Given the description of an element on the screen output the (x, y) to click on. 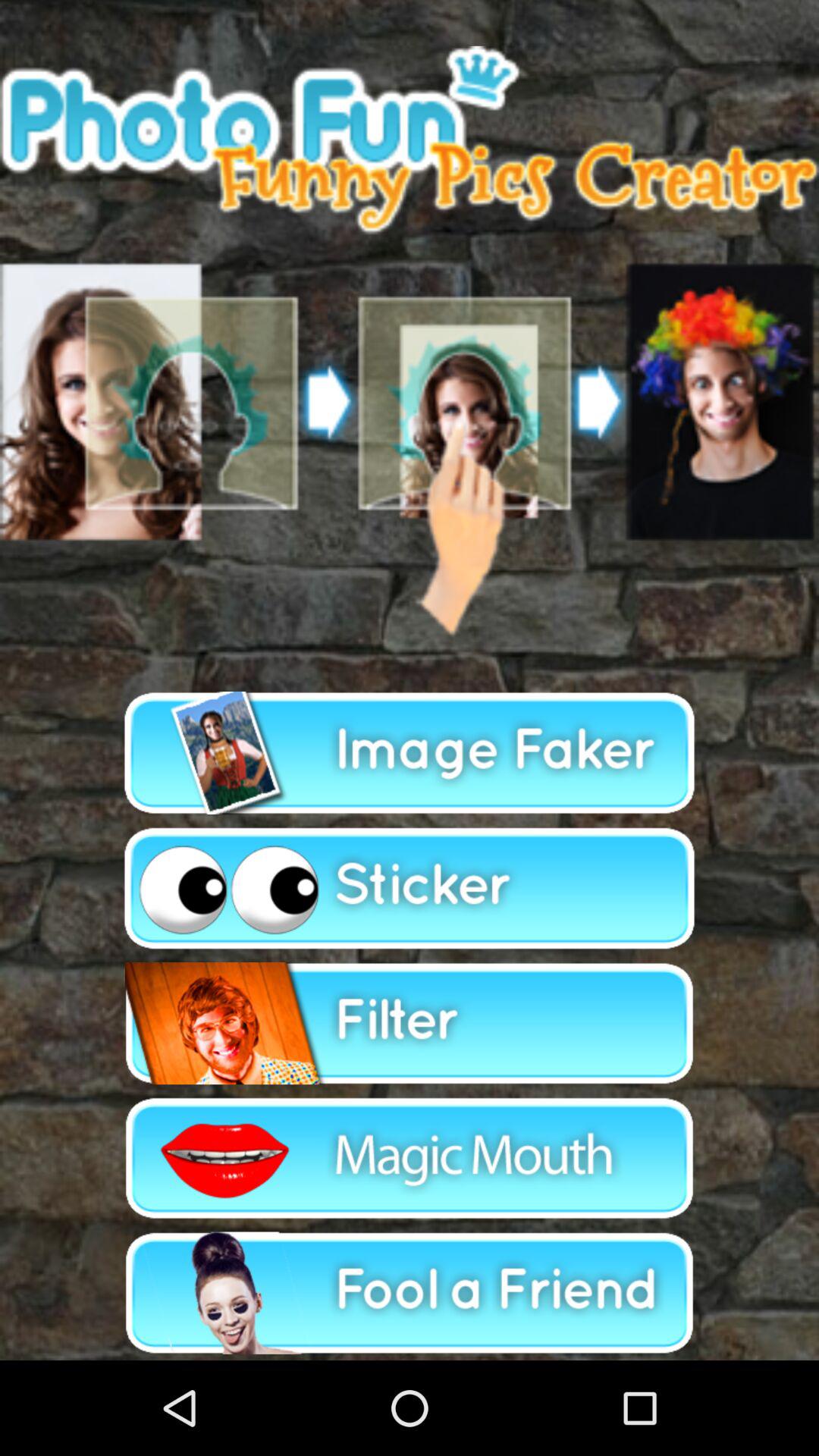
select photo option (409, 342)
